Given the description of an element on the screen output the (x, y) to click on. 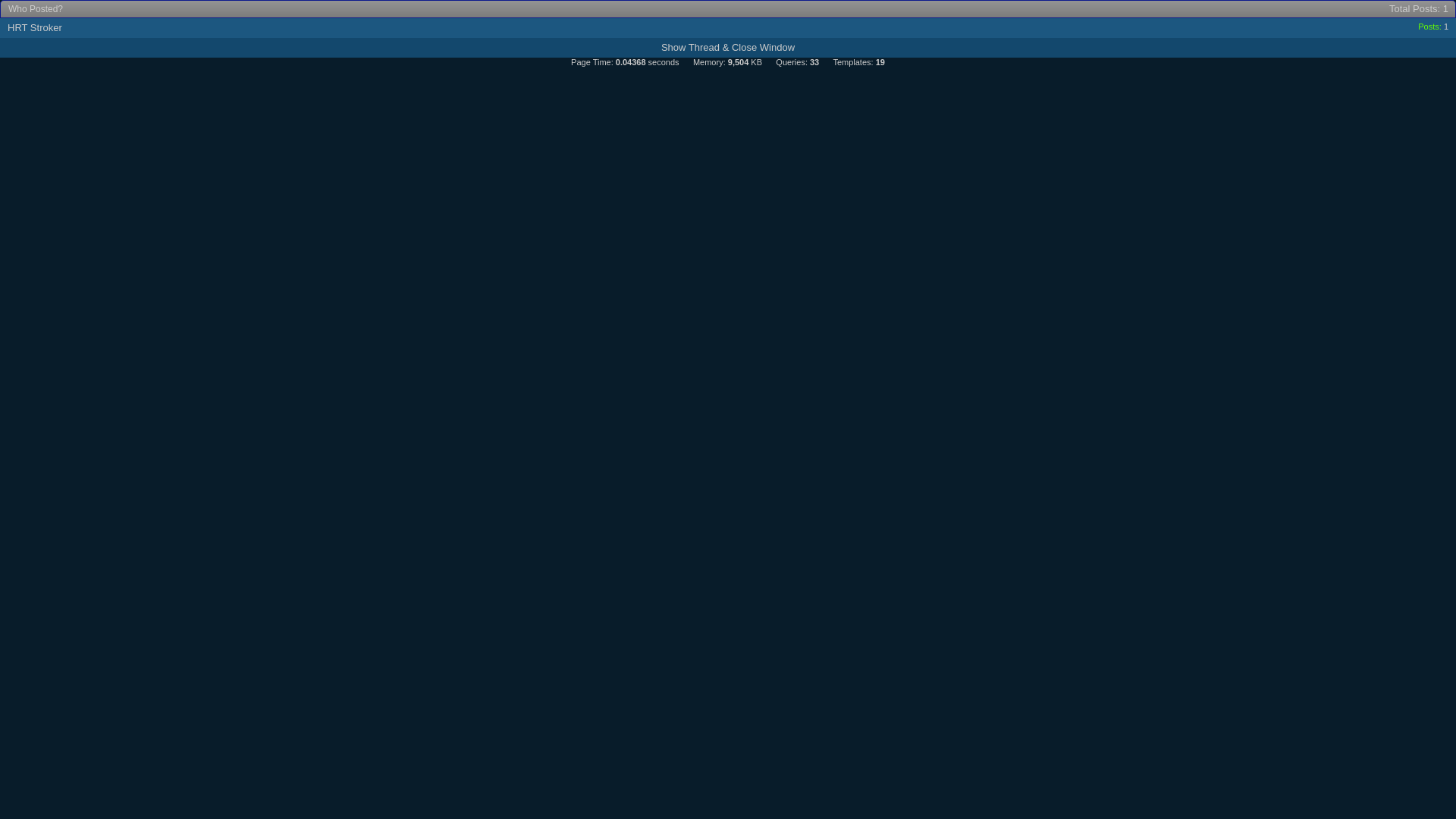
HRT Stroker Element type: text (34, 27)
1 Element type: text (1445, 26)
Show Thread & Close Window Element type: text (727, 47)
